Given the description of an element on the screen output the (x, y) to click on. 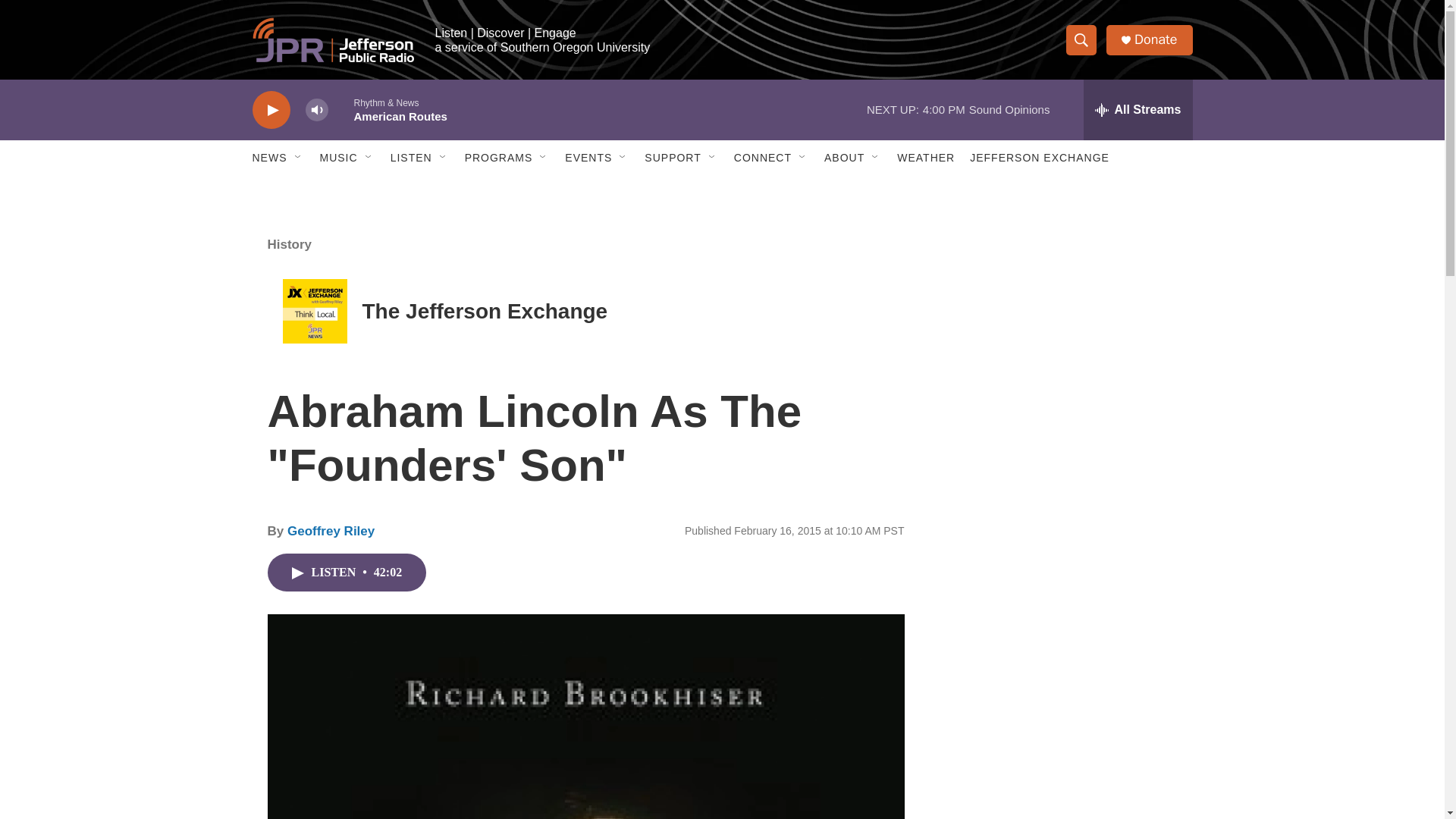
3rd party ad content (1062, 536)
3rd party ad content (1062, 316)
3rd party ad content (1062, 740)
